Given the description of an element on the screen output the (x, y) to click on. 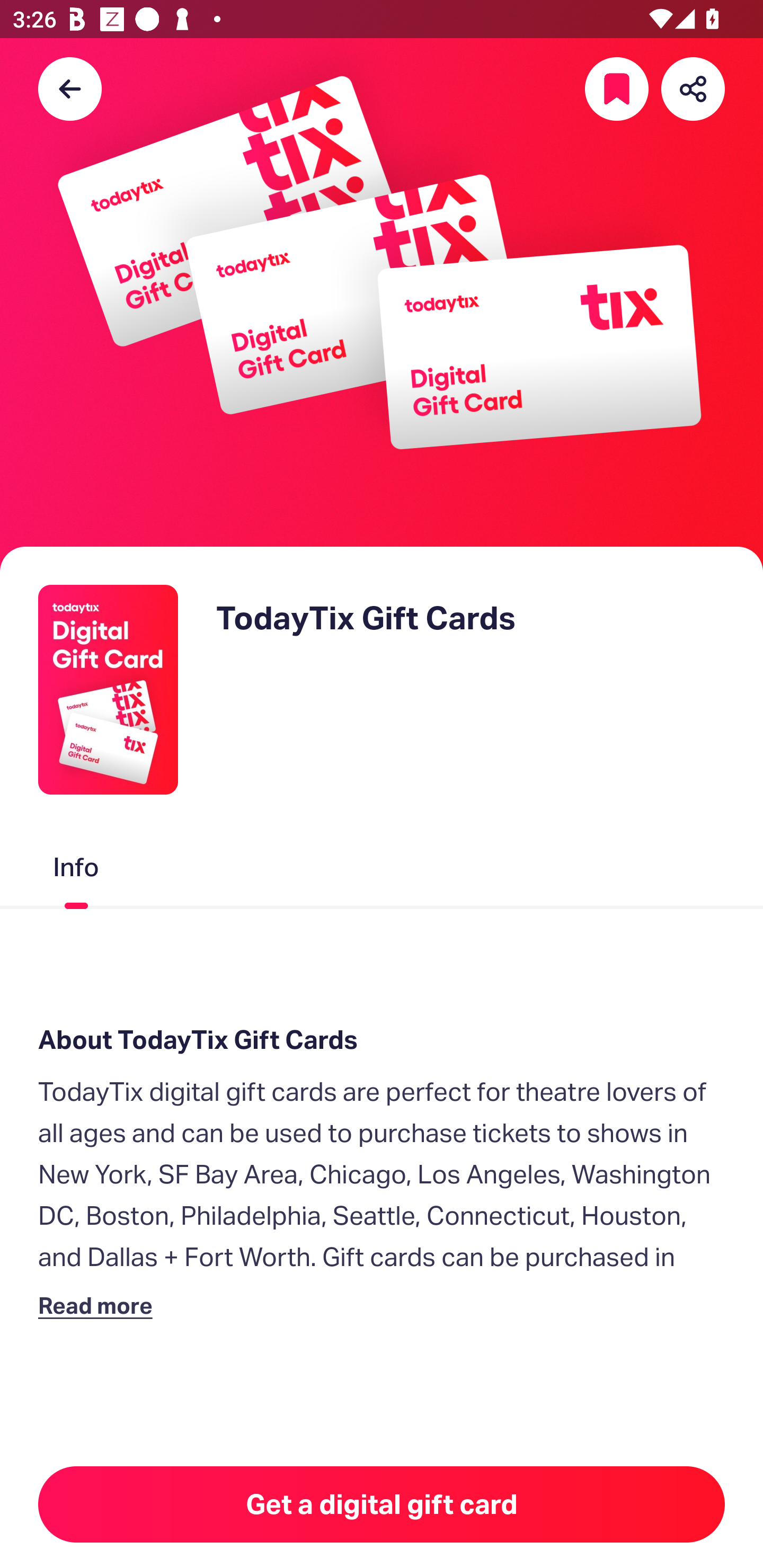
About TodayTix Gift Cards (381, 1039)
Read more (99, 1305)
Get a digital gift card (381, 1504)
